Given the description of an element on the screen output the (x, y) to click on. 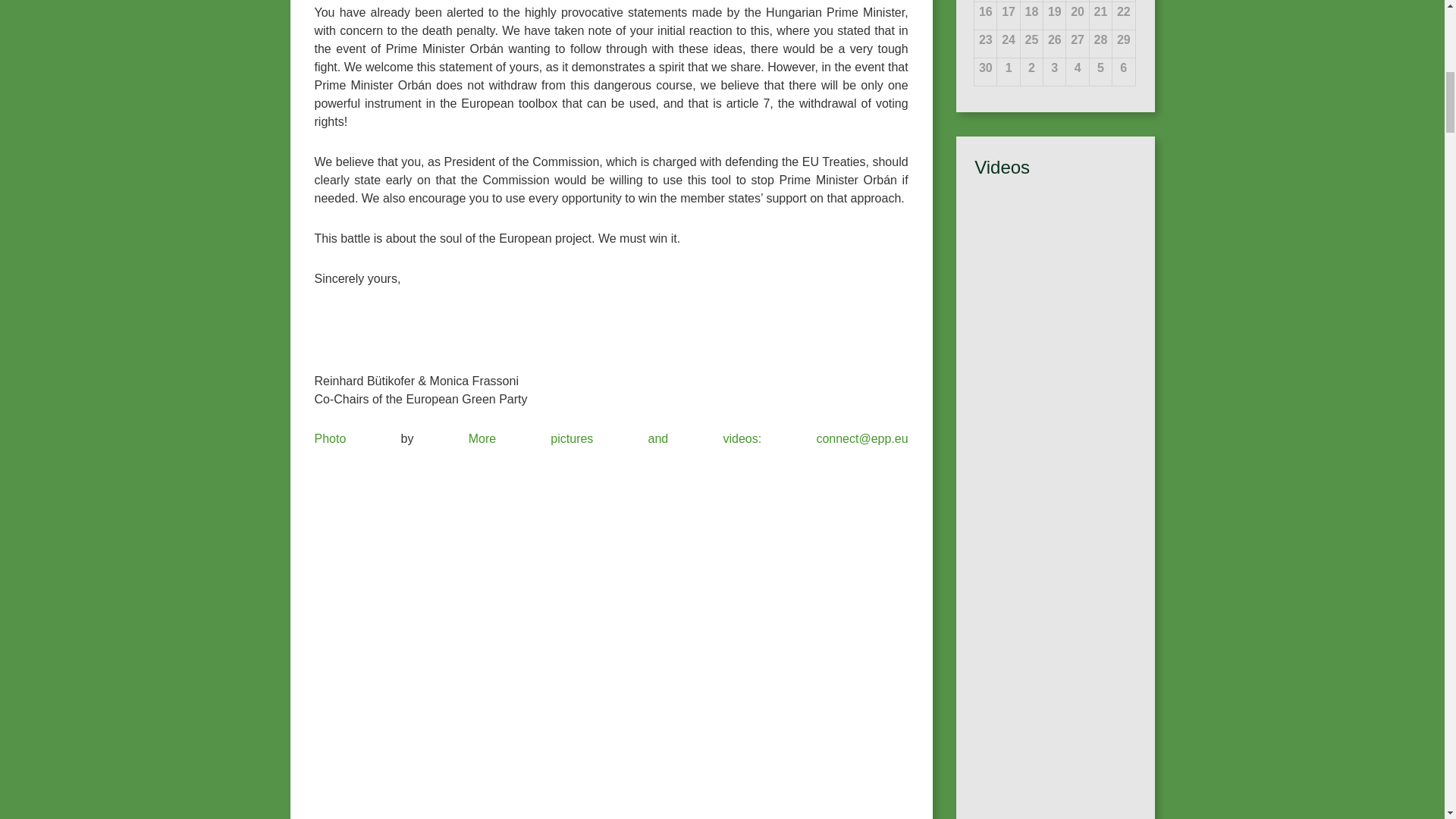
Photo (330, 438)
Image inserted by the ImageInject WordPress plugin (330, 438)
YouTube video player (1054, 748)
